Given the description of an element on the screen output the (x, y) to click on. 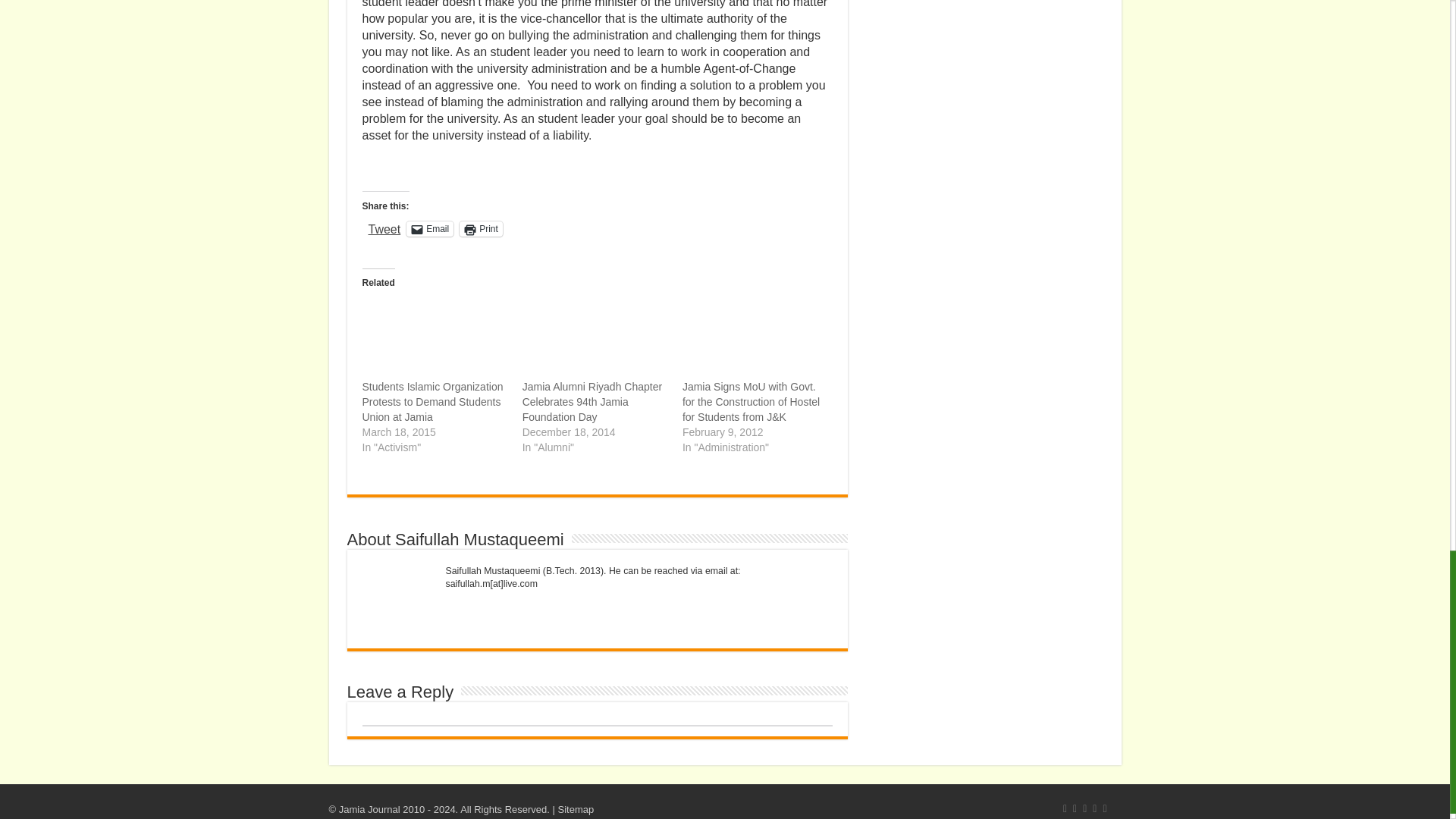
Click to print (481, 228)
Click to email a link to a friend (429, 228)
